Given the description of an element on the screen output the (x, y) to click on. 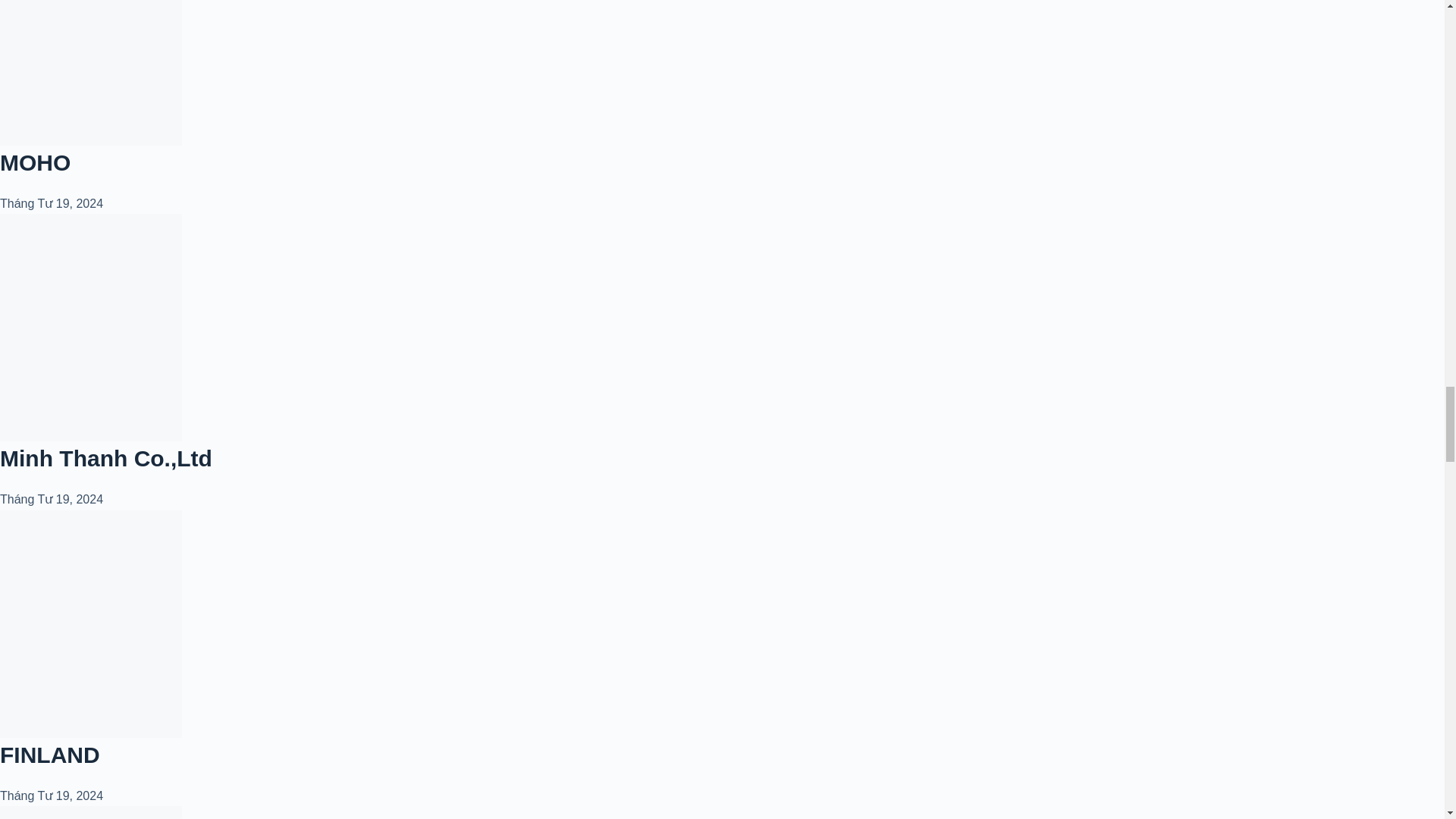
Minh Thanh Co.,Ltd (106, 457)
FINLAND (50, 754)
MOHO (34, 162)
